Given the description of an element on the screen output the (x, y) to click on. 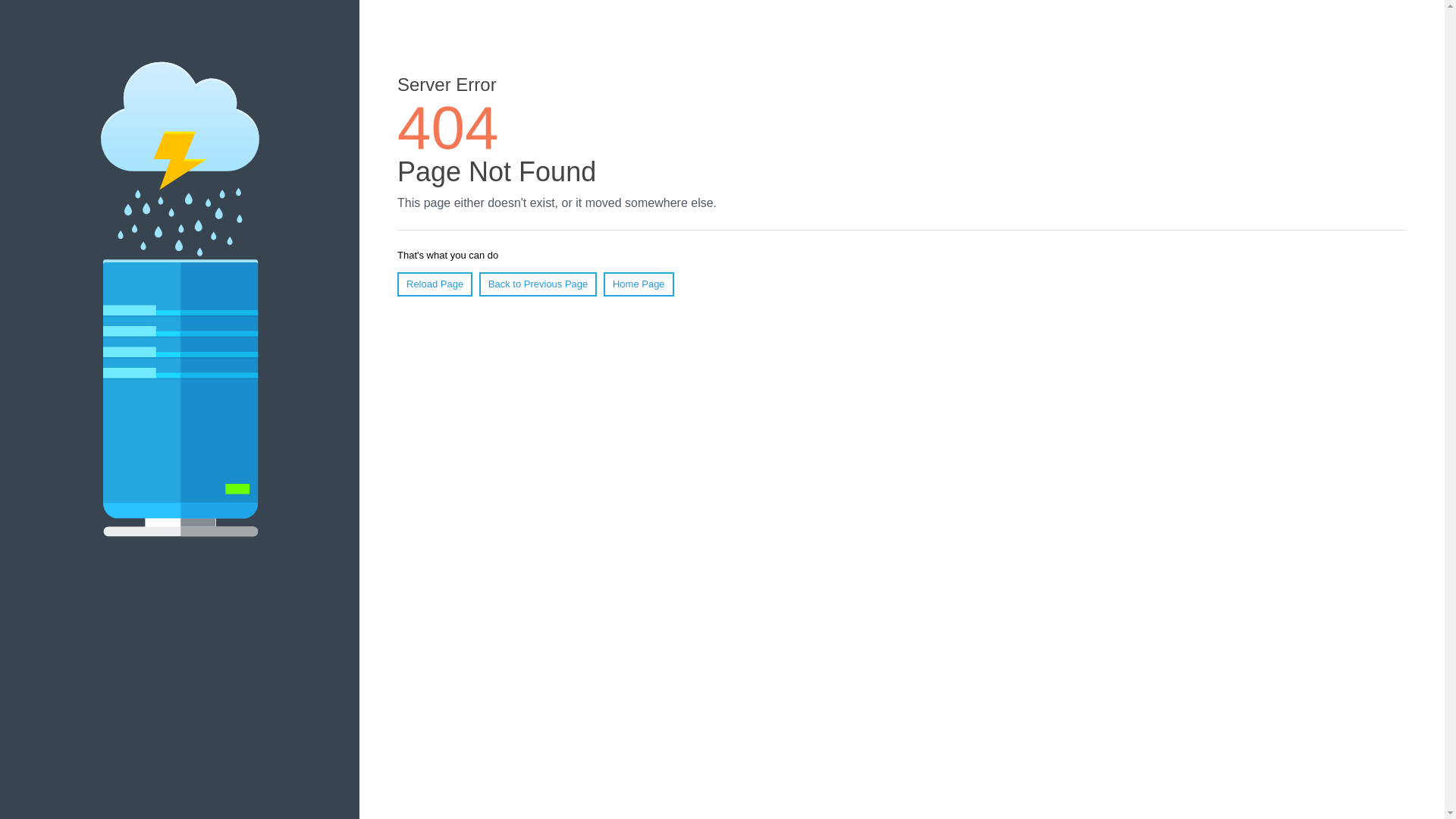
Home Page Element type: text (638, 284)
Reload Page Element type: text (434, 284)
Back to Previous Page Element type: text (538, 284)
